Given the description of an element on the screen output the (x, y) to click on. 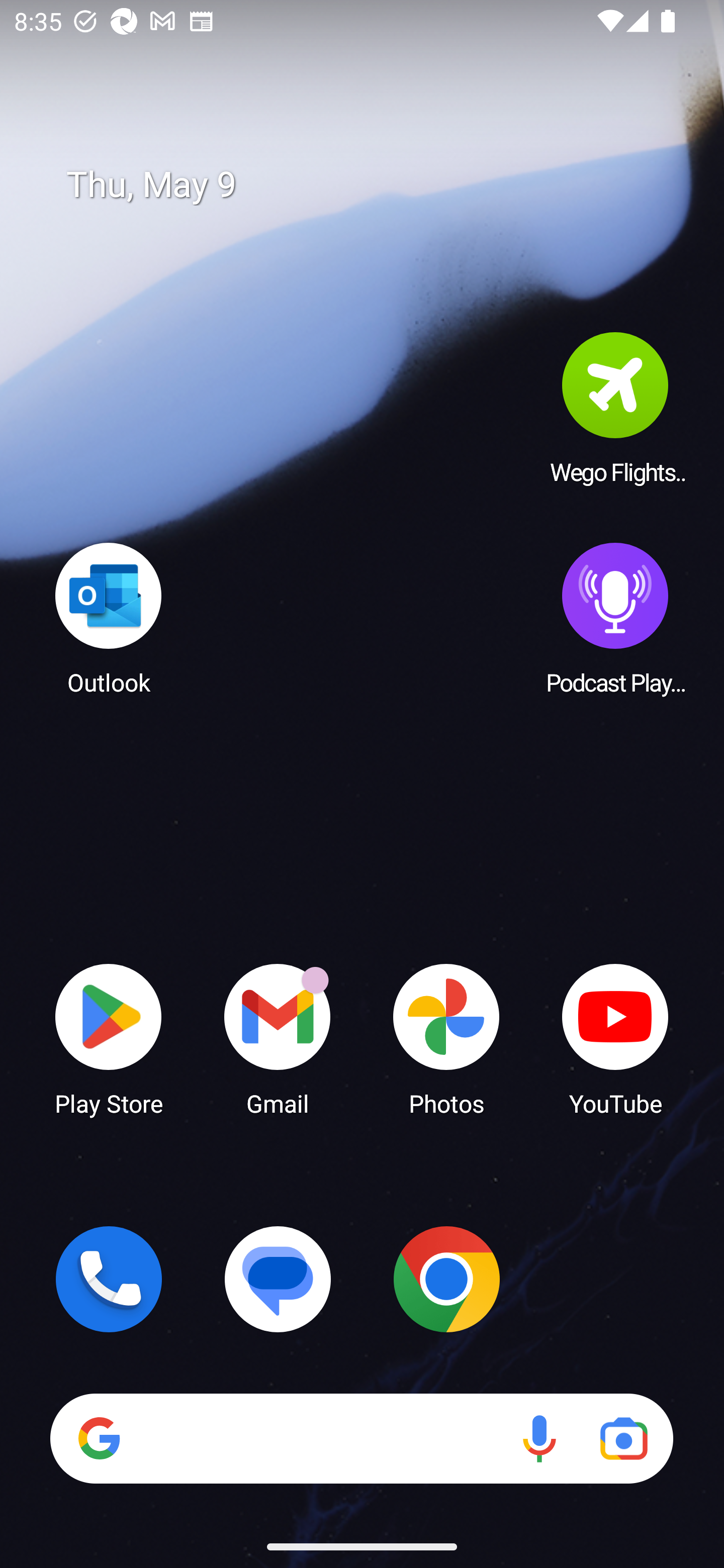
Thu, May 9 (375, 184)
Wego Flights & Hotels (615, 407)
Outlook (108, 617)
Podcast Player (615, 617)
Play Store (108, 1038)
Gmail Gmail has 18 notifications (277, 1038)
Photos (445, 1038)
YouTube (615, 1038)
Phone (108, 1279)
Messages (277, 1279)
Chrome (446, 1279)
Search Voice search Google Lens (361, 1438)
Voice search (539, 1438)
Google Lens (623, 1438)
